Given the description of an element on the screen output the (x, y) to click on. 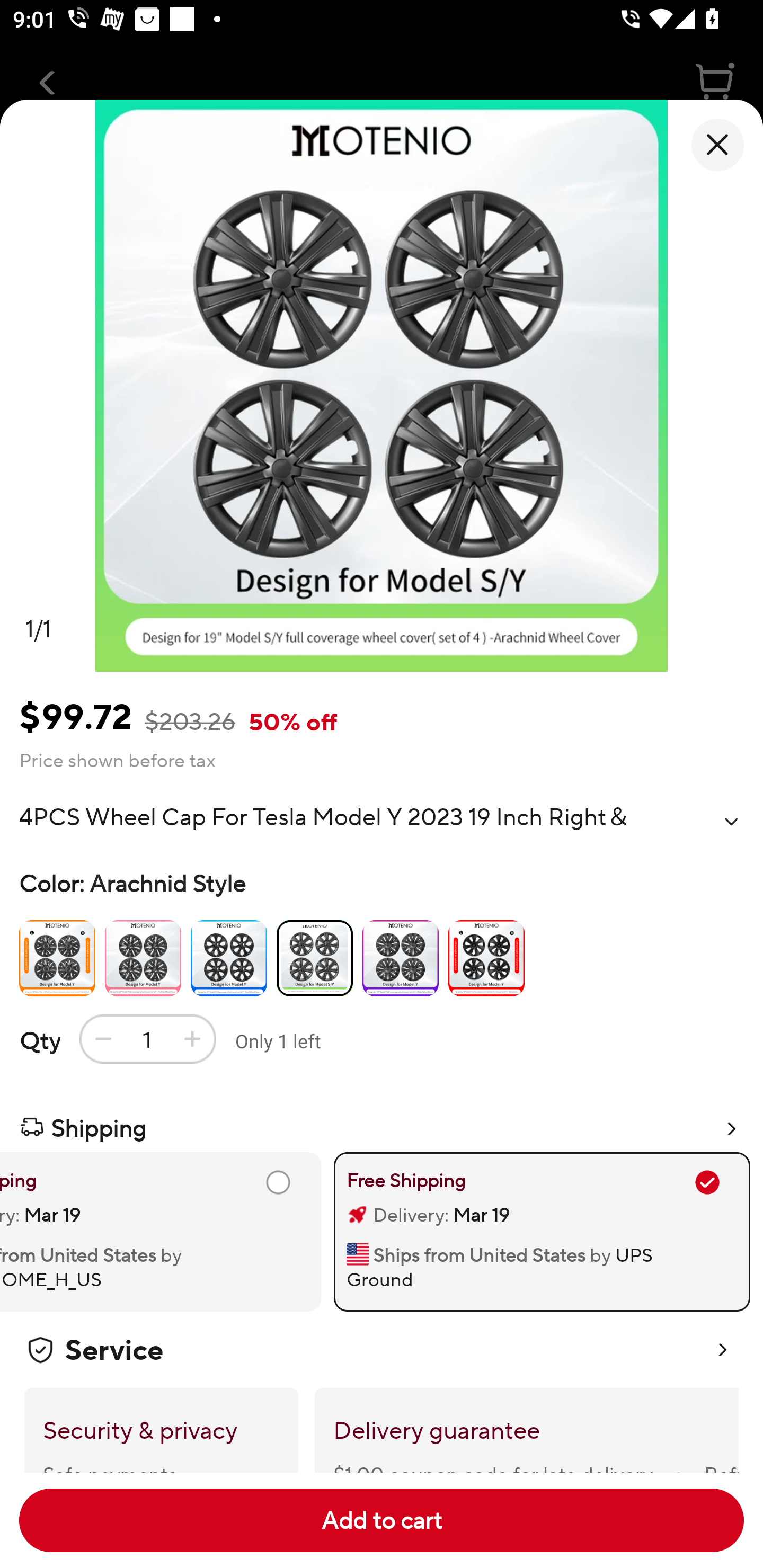
close  (717, 144)
 (730, 821)
Add to cart (381, 1520)
